Given the description of an element on the screen output the (x, y) to click on. 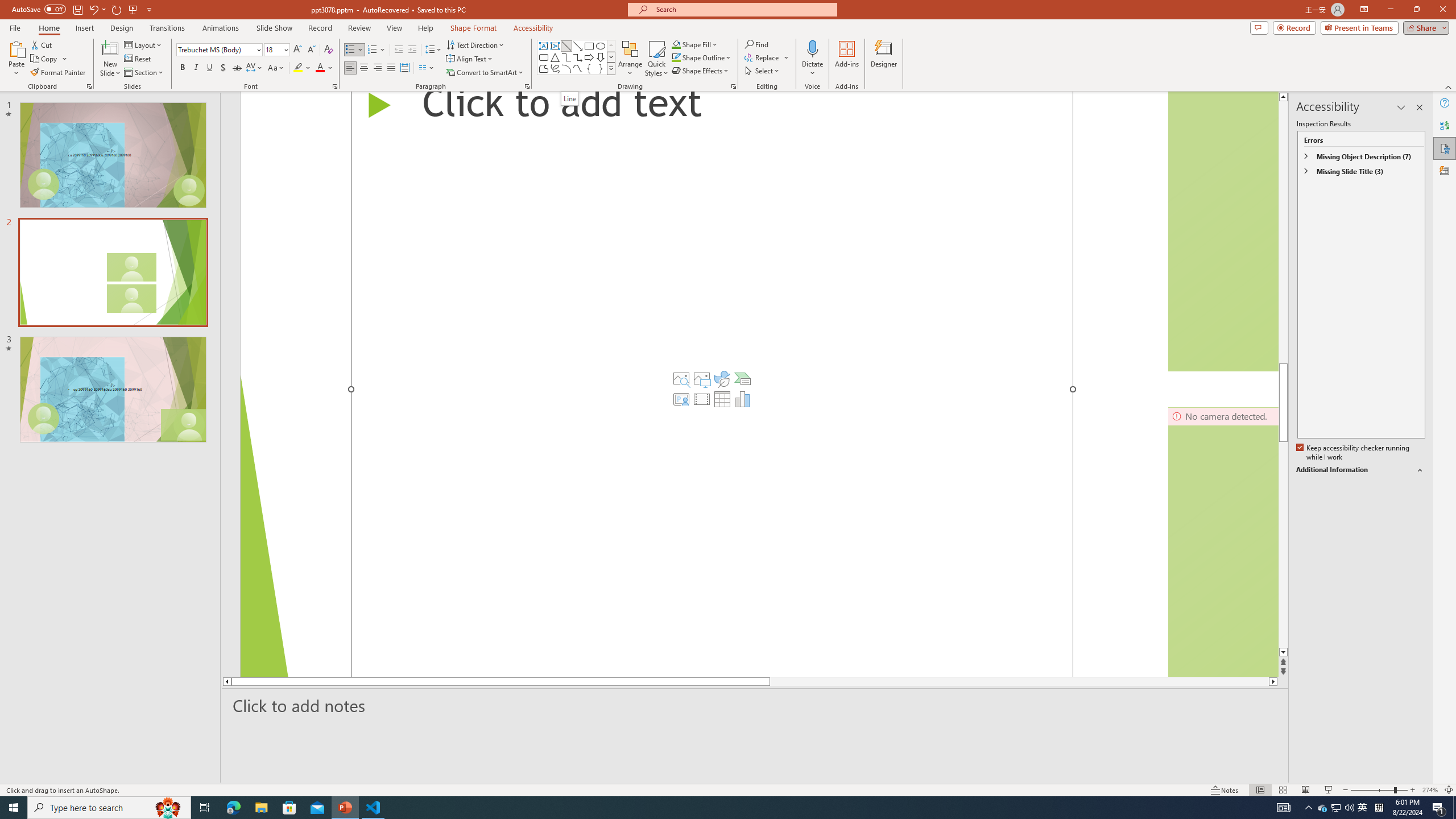
Replace... (762, 56)
Page down (1283, 544)
Slide (112, 389)
Align Text (470, 58)
Align Left (349, 67)
Shape Fill (694, 44)
Shape Effects (700, 69)
Left Brace (589, 68)
Shadow (223, 67)
Insert Table (721, 398)
Shapes (611, 68)
Curve (577, 68)
